Given the description of an element on the screen output the (x, y) to click on. 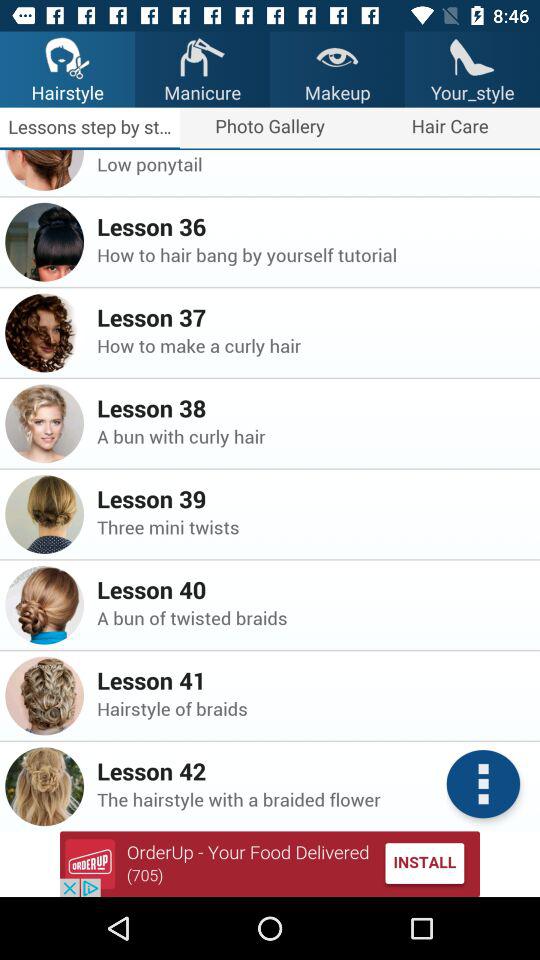
see more options (483, 784)
